Given the description of an element on the screen output the (x, y) to click on. 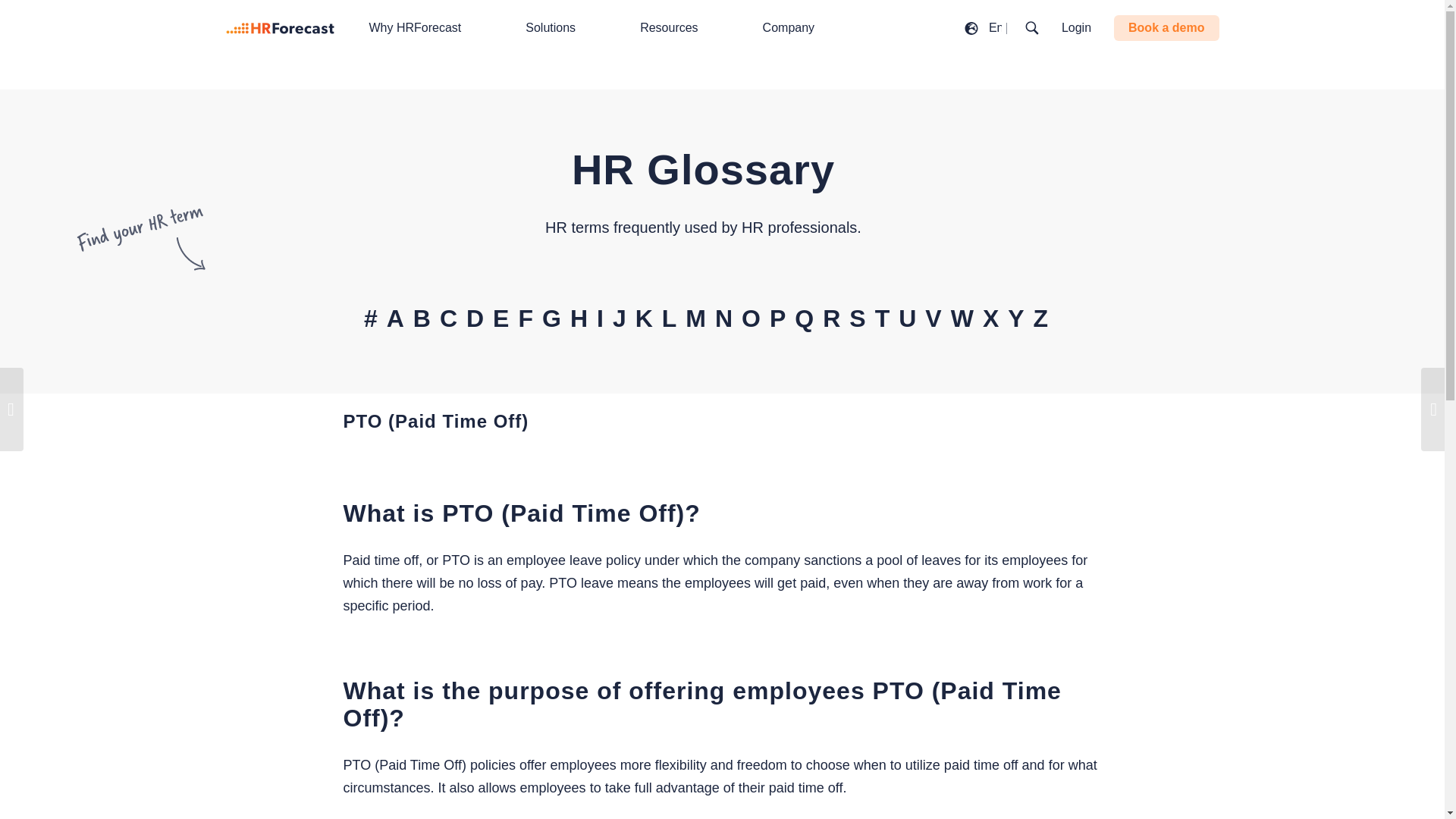
Why HRForecast (422, 27)
Company (797, 27)
Solutions (557, 27)
Resources (676, 27)
